Given the description of an element on the screen output the (x, y) to click on. 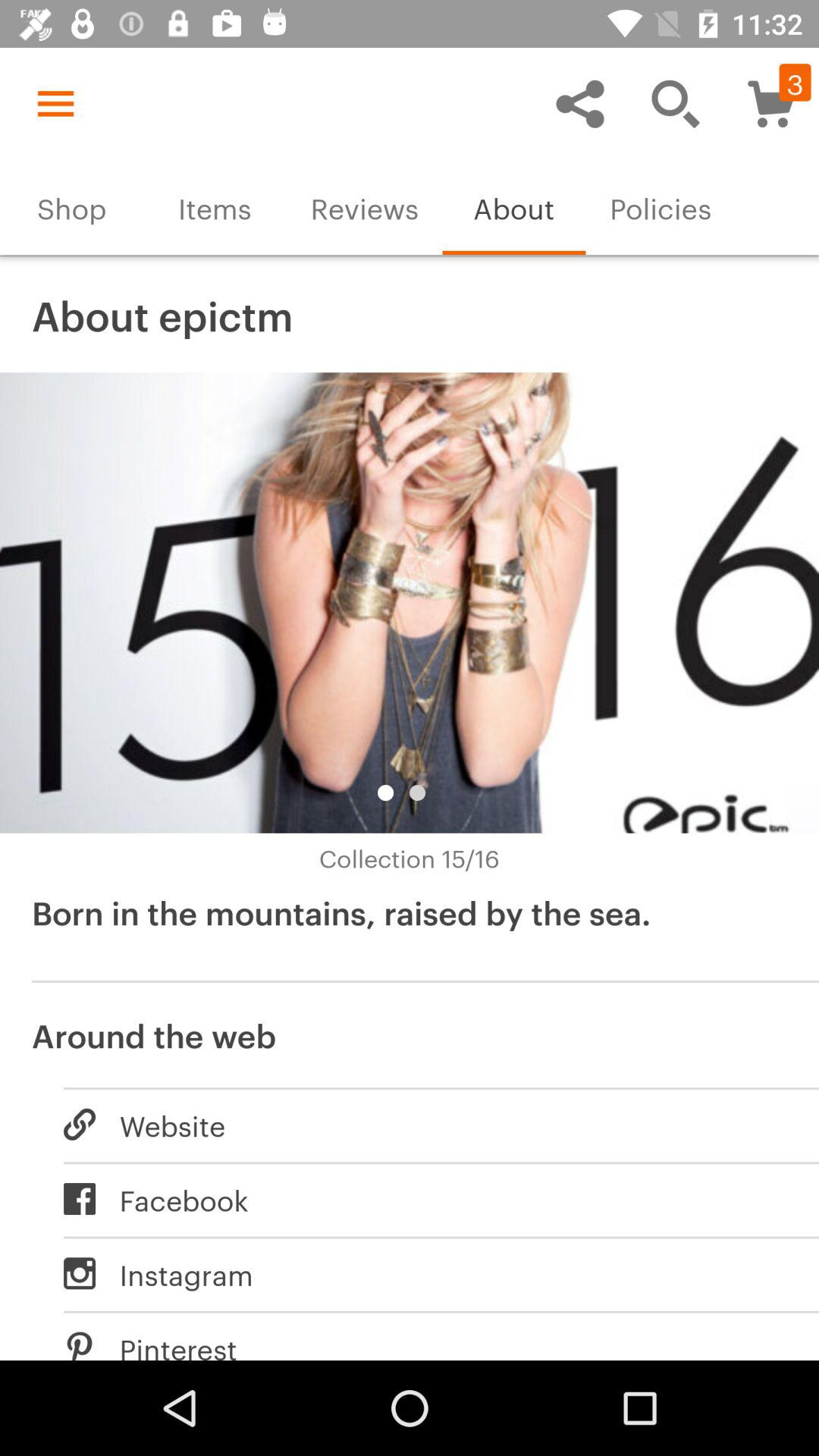
launch the instagram item (425, 1273)
